Given the description of an element on the screen output the (x, y) to click on. 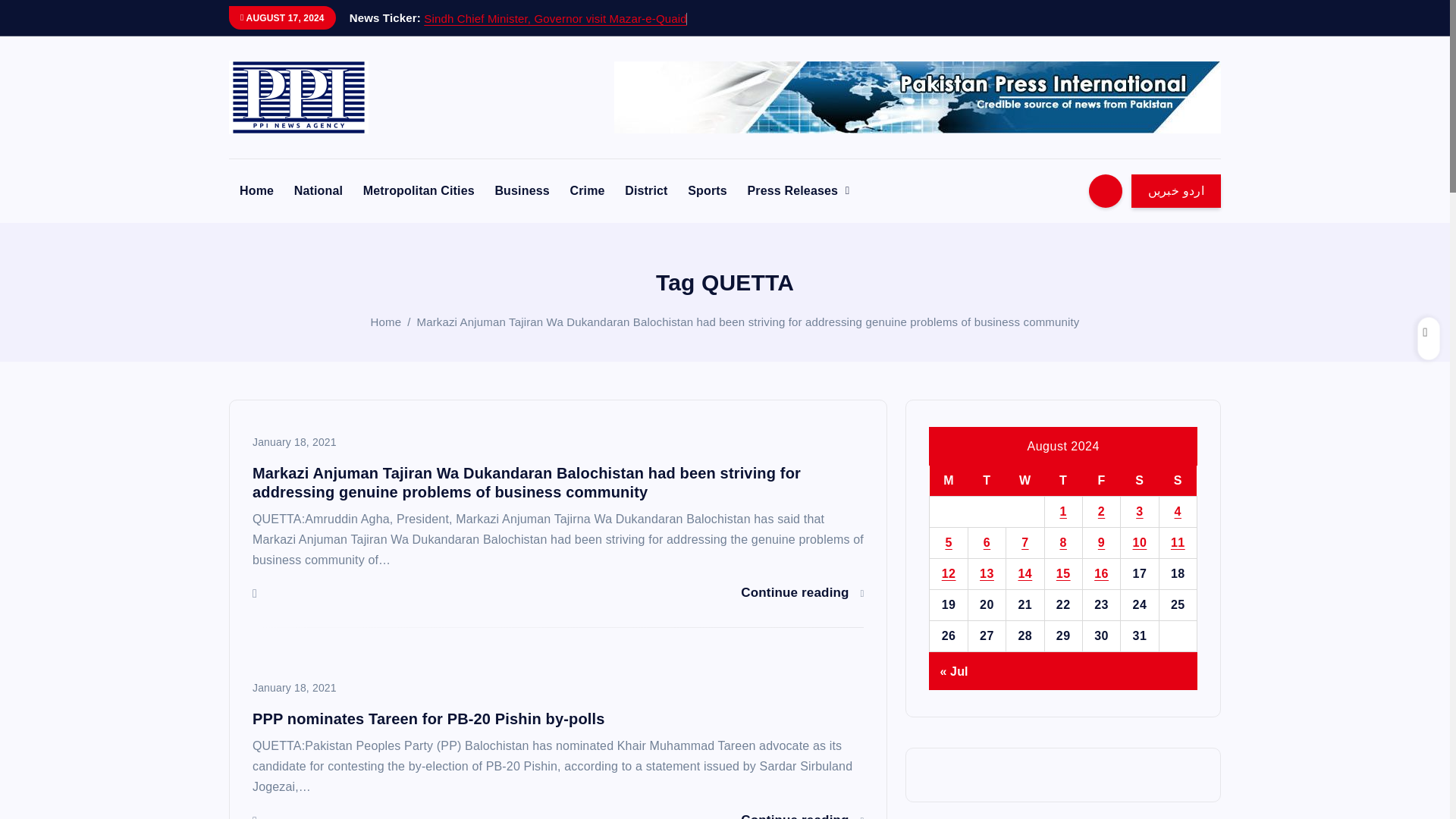
Sports (707, 190)
Home (255, 190)
Sindh Chief Minister, Governor visit Mazar-e-Quaid (554, 18)
National (318, 190)
Business (521, 190)
District (646, 190)
Crime (586, 190)
Metropolitan Cities (418, 190)
Press Releases (798, 190)
